Given the description of an element on the screen output the (x, y) to click on. 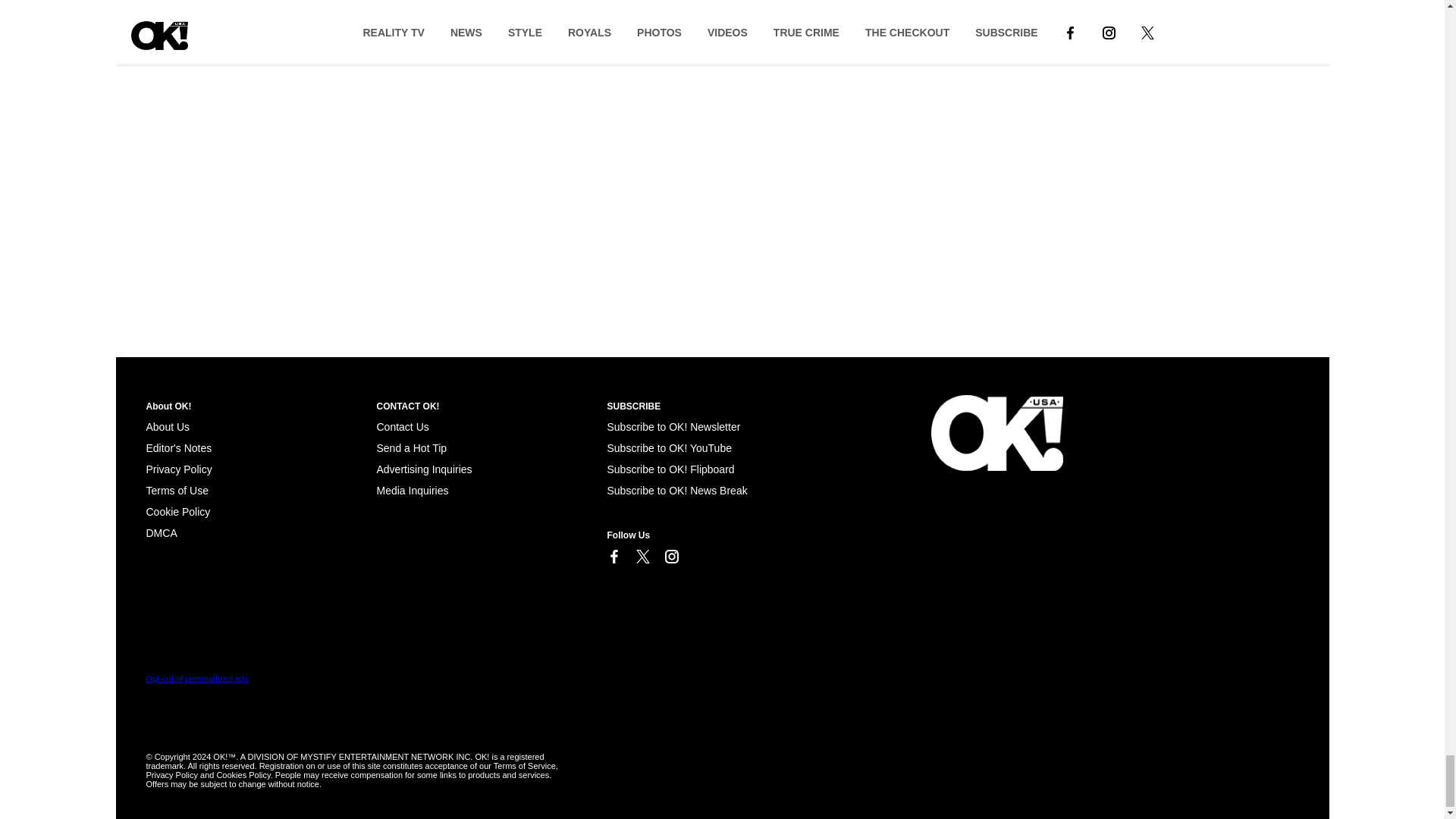
Link to Instagram (670, 556)
Send a Hot Tip (410, 448)
Cookie Policy (177, 511)
Terms of Use (176, 490)
About Us (167, 426)
Link to X (641, 556)
Advertising Inquiries (423, 469)
Contact Us (401, 426)
Privacy Policy (178, 469)
Link to Facebook (613, 556)
Cookie Policy (160, 532)
Media Inquiries (411, 490)
Editor's Notes (178, 448)
